Given the description of an element on the screen output the (x, y) to click on. 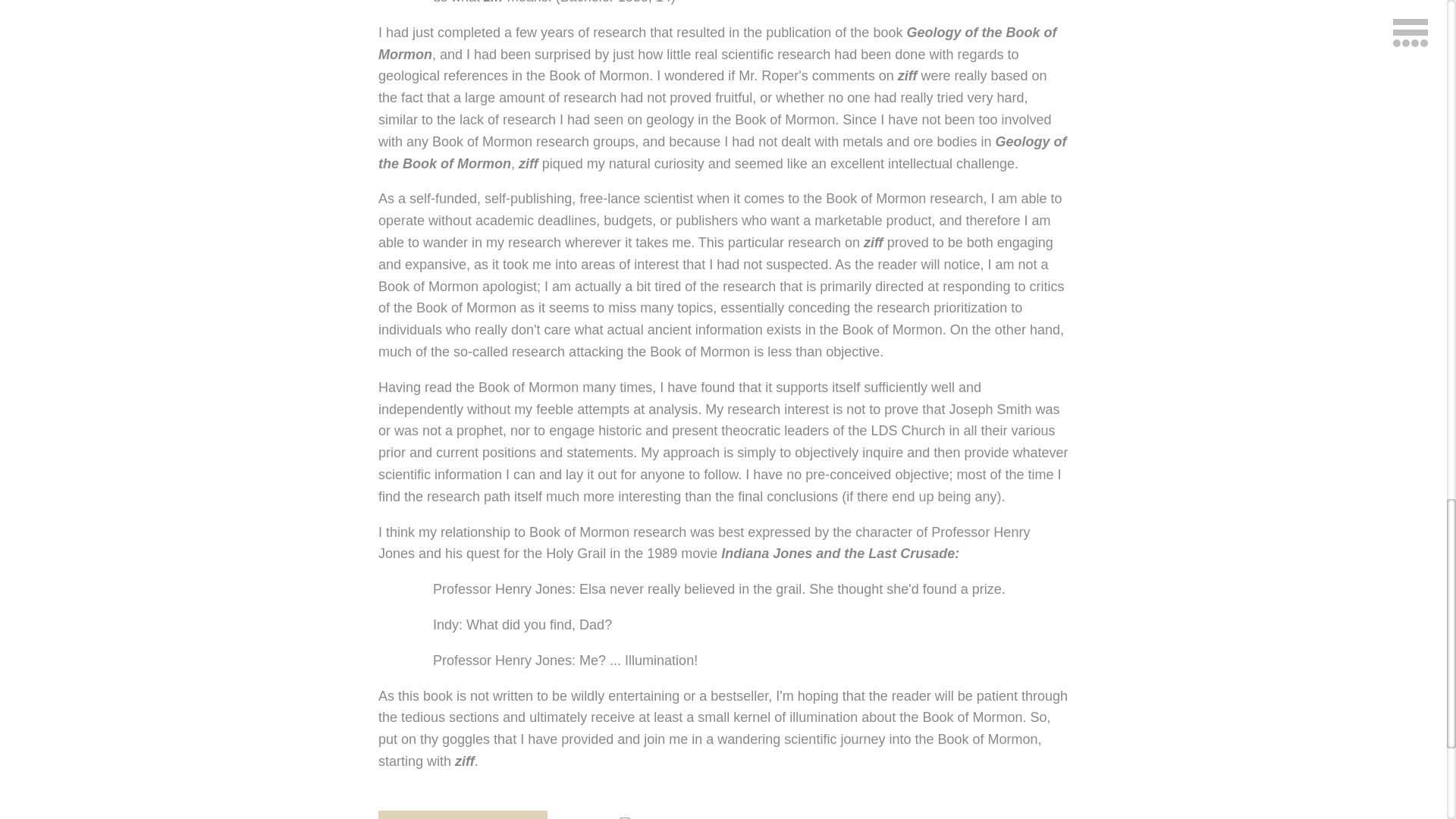
Paperback (653, 817)
